Given the description of an element on the screen output the (x, y) to click on. 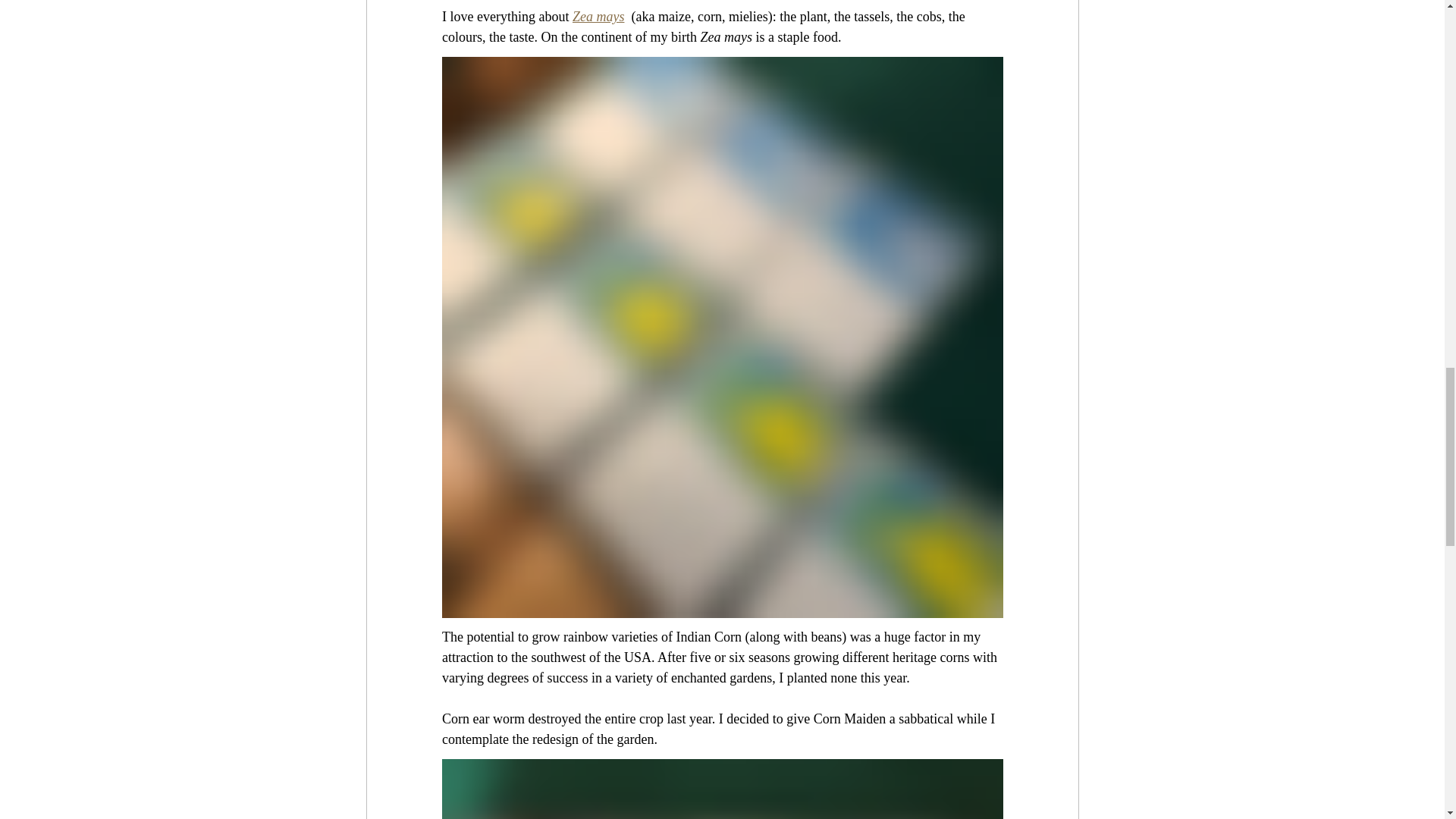
Zea mays (598, 16)
